Given the description of an element on the screen output the (x, y) to click on. 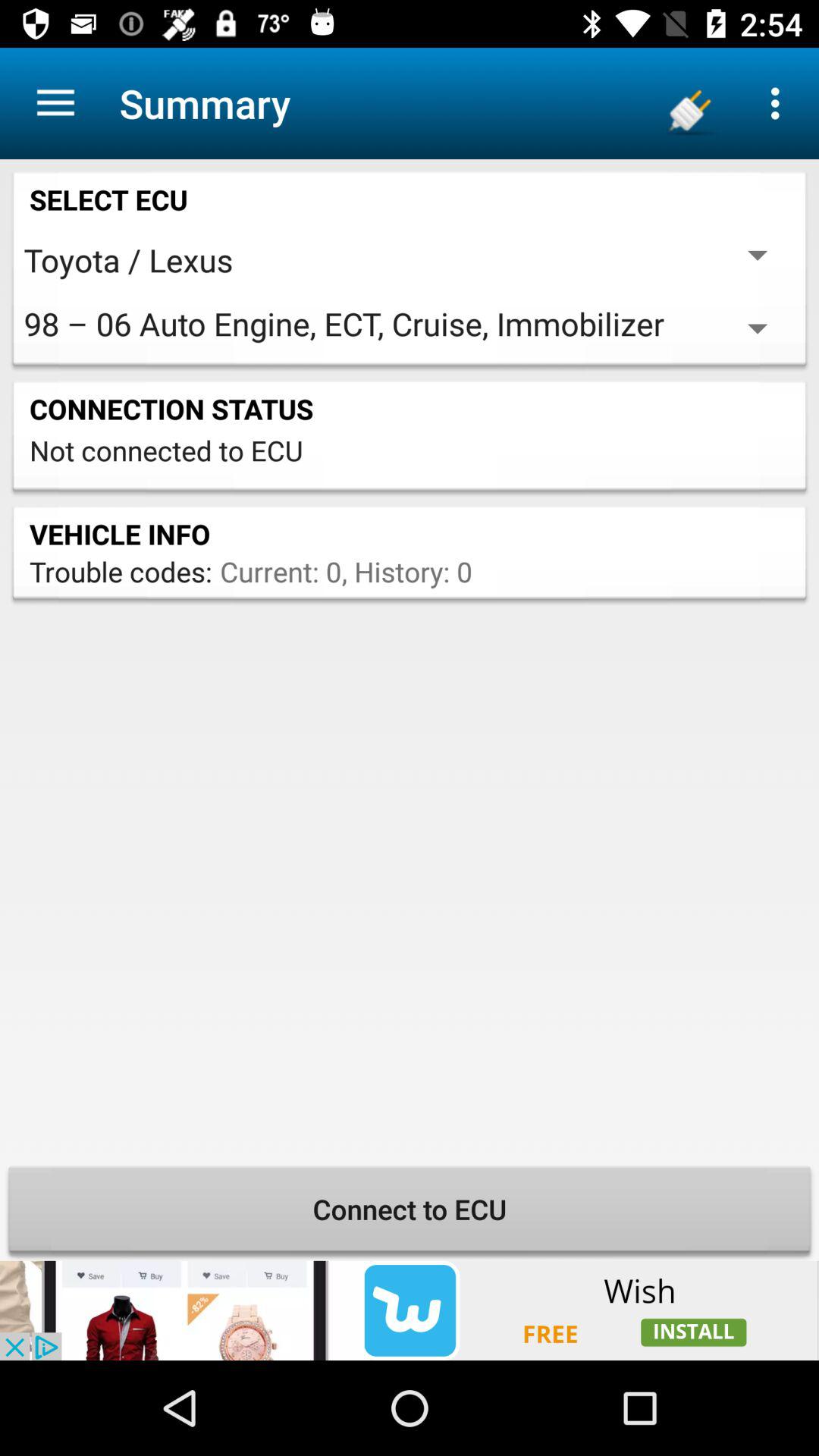
car scan messanger (409, 1310)
